Given the description of an element on the screen output the (x, y) to click on. 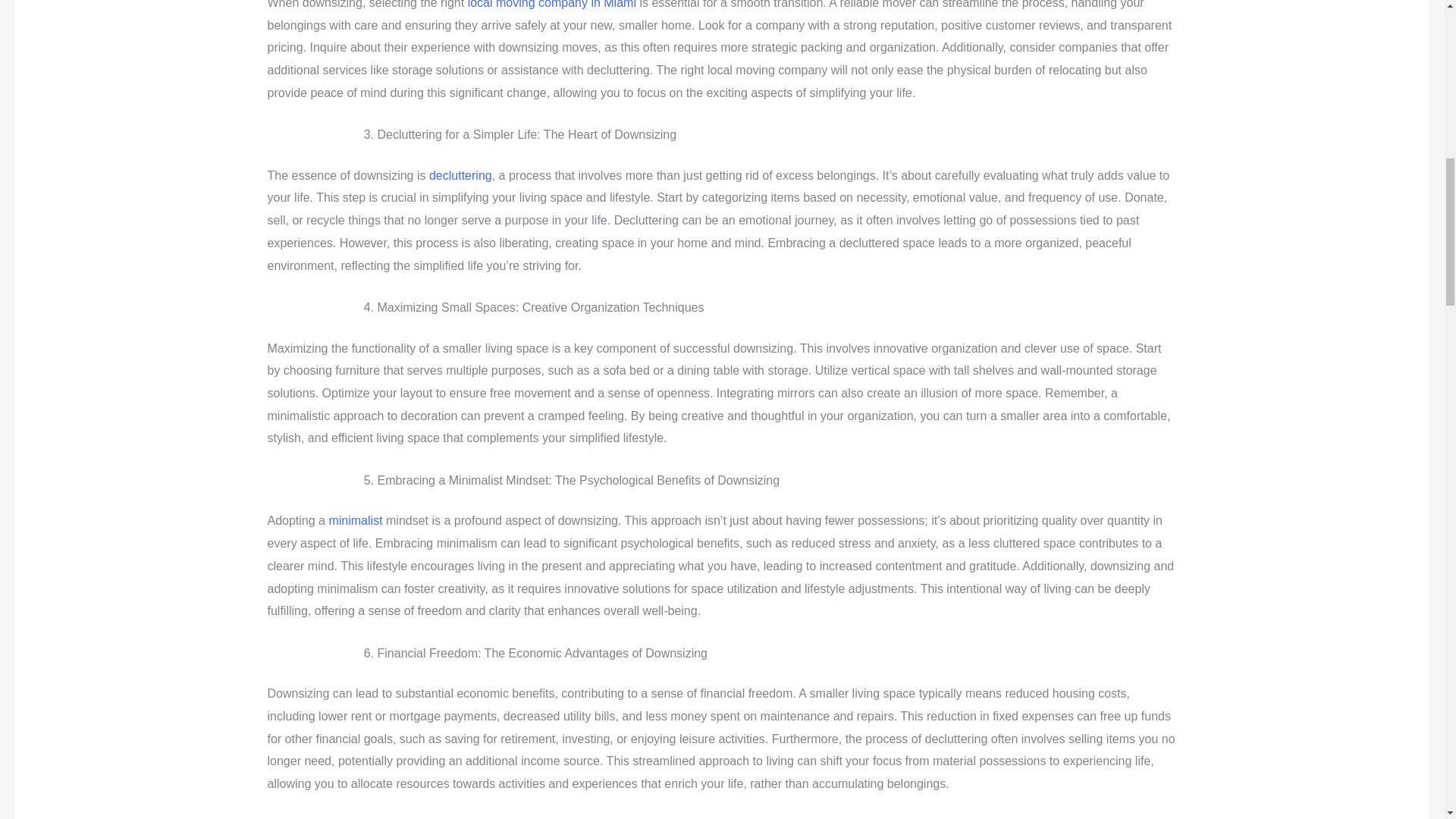
decluttering (460, 174)
minimalist (355, 520)
local moving company in Miami (551, 4)
